Given the description of an element on the screen output the (x, y) to click on. 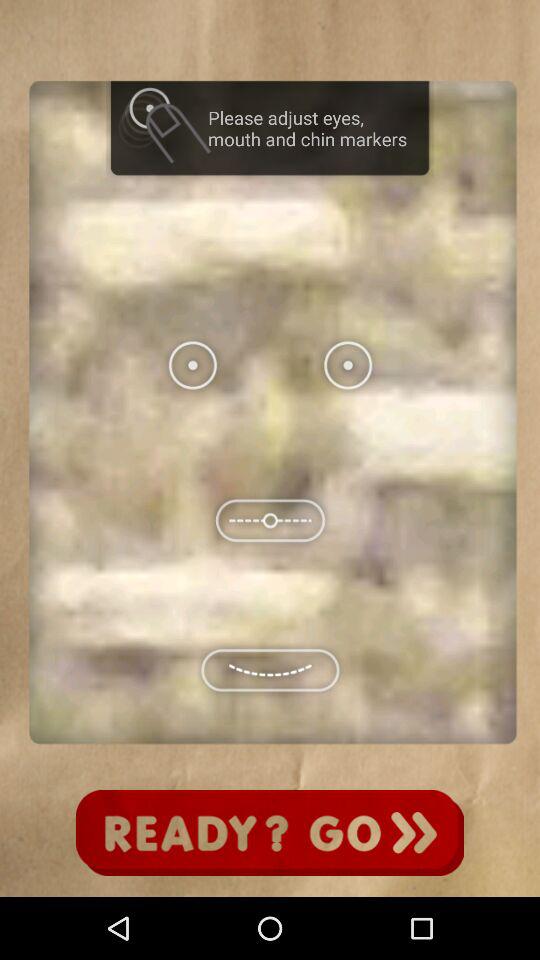
ready to go (269, 833)
